Given the description of an element on the screen output the (x, y) to click on. 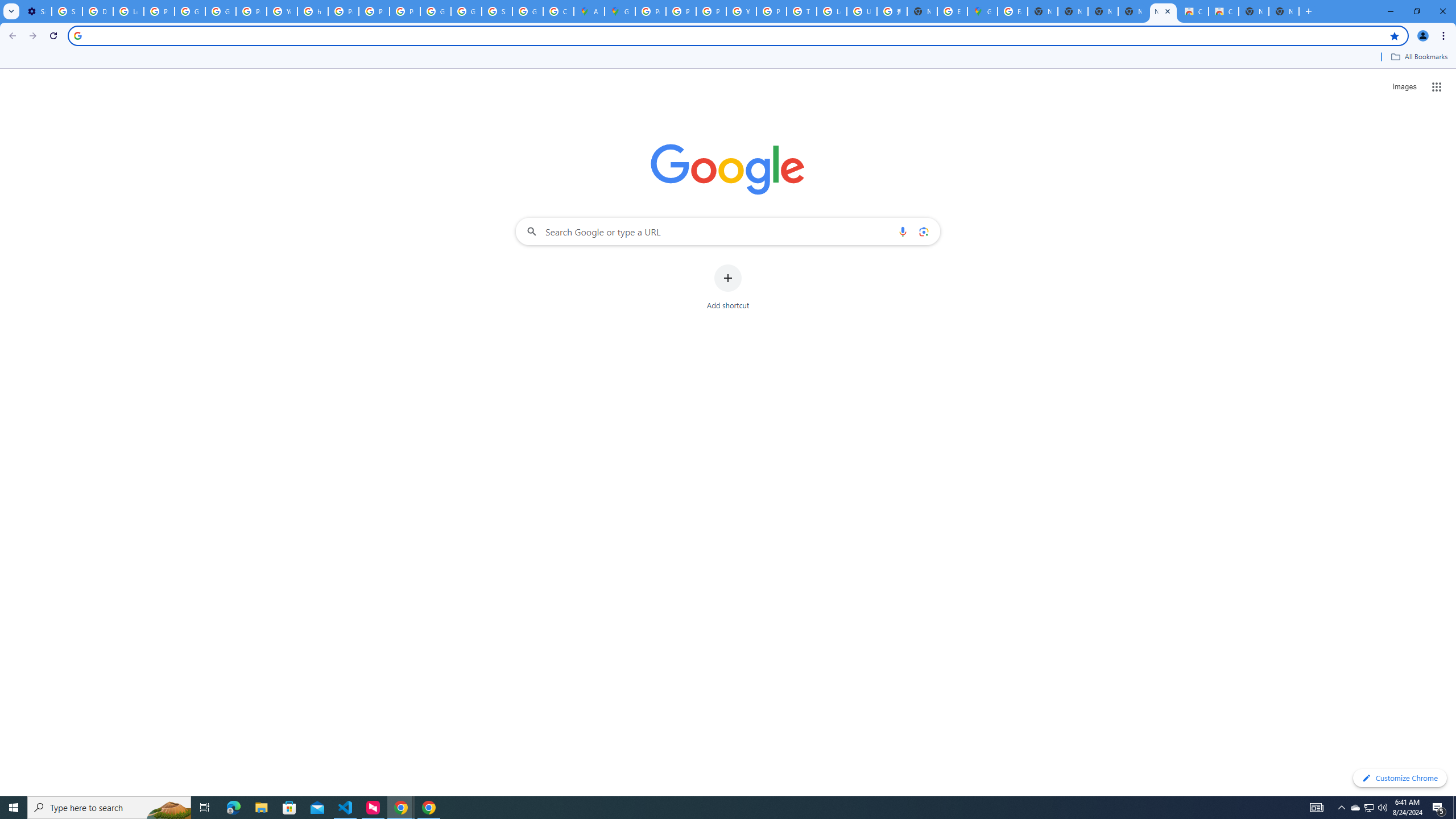
YouTube (740, 11)
Settings - On startup (36, 11)
Delete photos & videos - Computer - Google Photos Help (97, 11)
Privacy Help Center - Policies Help (710, 11)
New Tab (1283, 11)
